Given the description of an element on the screen output the (x, y) to click on. 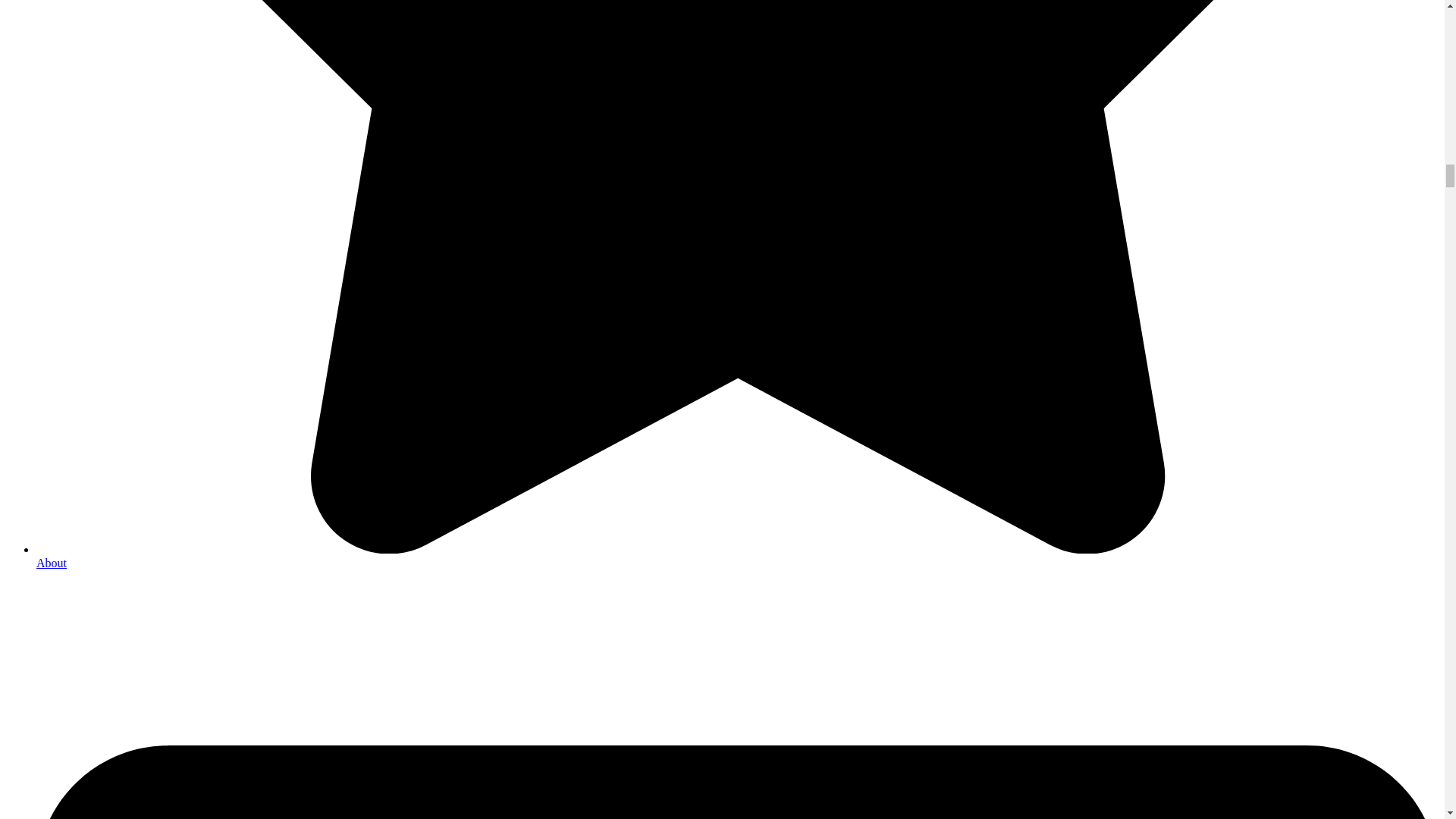
About (51, 562)
